Given the description of an element on the screen output the (x, y) to click on. 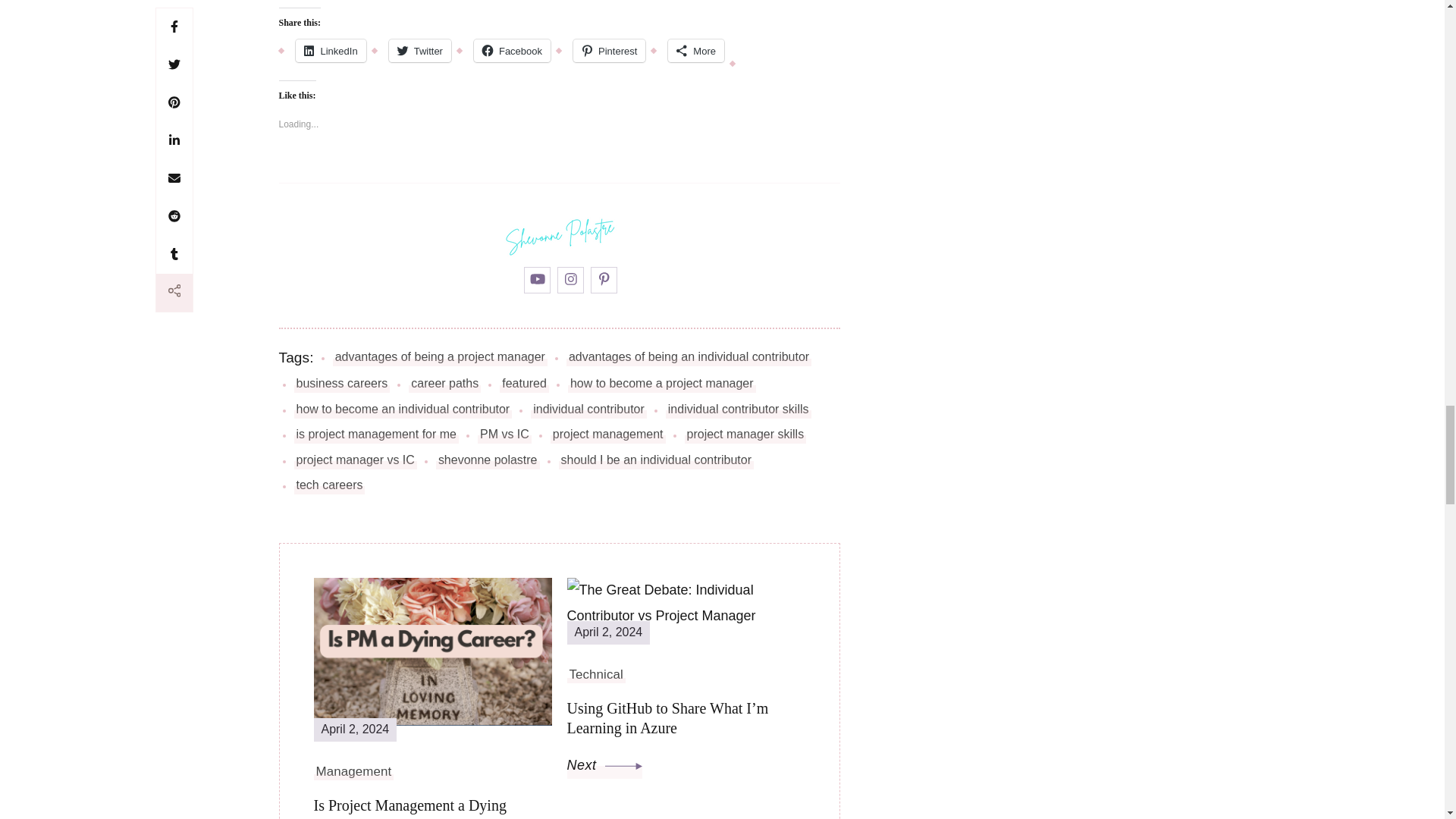
Click to share on Twitter (419, 50)
Click to share on LinkedIn (330, 50)
Click to share on Pinterest (609, 50)
Click to share on Facebook (512, 50)
